Given the description of an element on the screen output the (x, y) to click on. 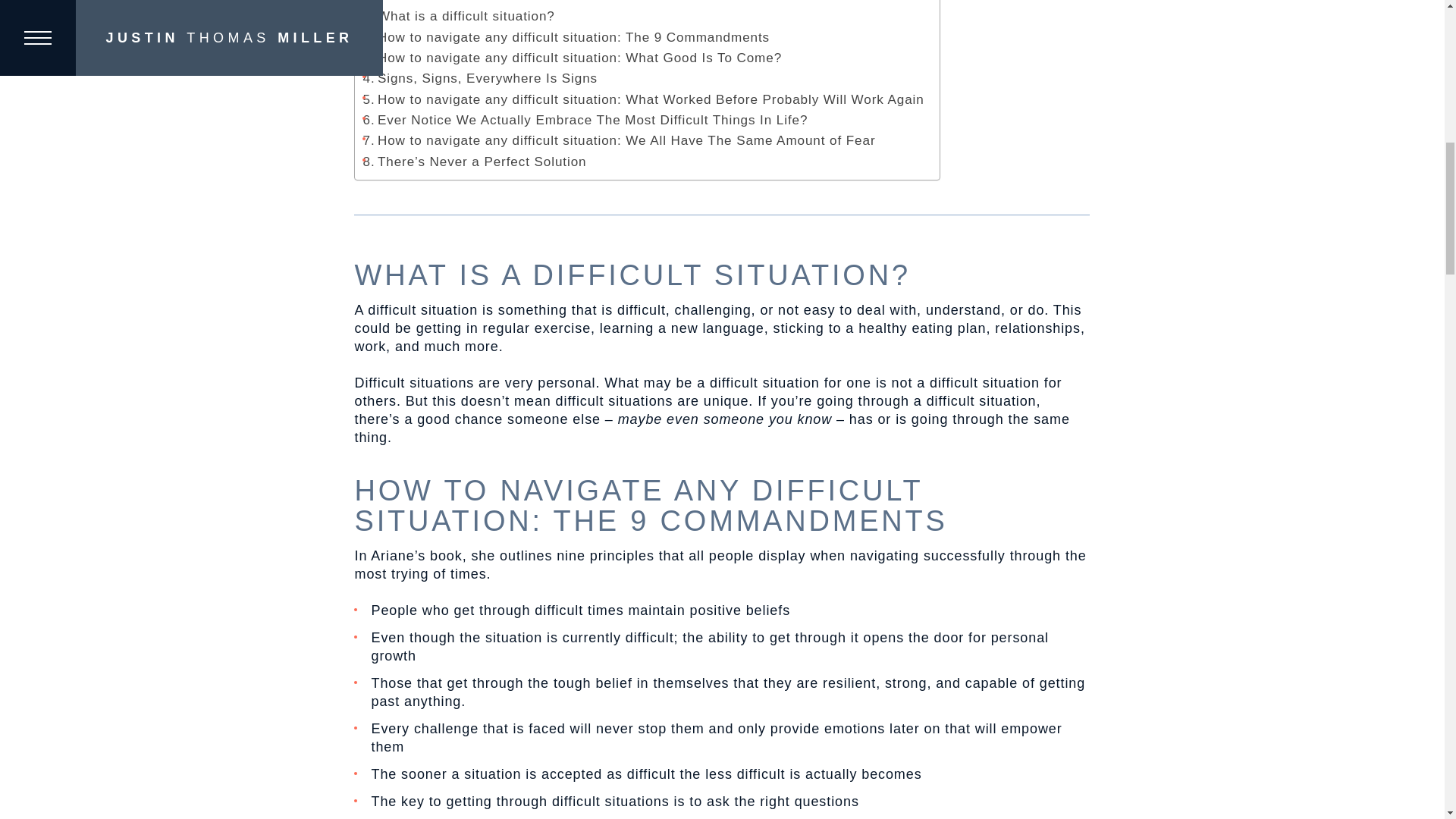
How to navigate any difficult situation: The 9 Commandments (566, 37)
What is a difficult situation? (458, 15)
Signs, Signs, Everywhere Is Signs (479, 77)
How to navigate any difficult situation: The 9 Commandments (566, 37)
Signs, Signs, Everywhere Is Signs (479, 77)
What is a difficult situation? (458, 15)
